Given the description of an element on the screen output the (x, y) to click on. 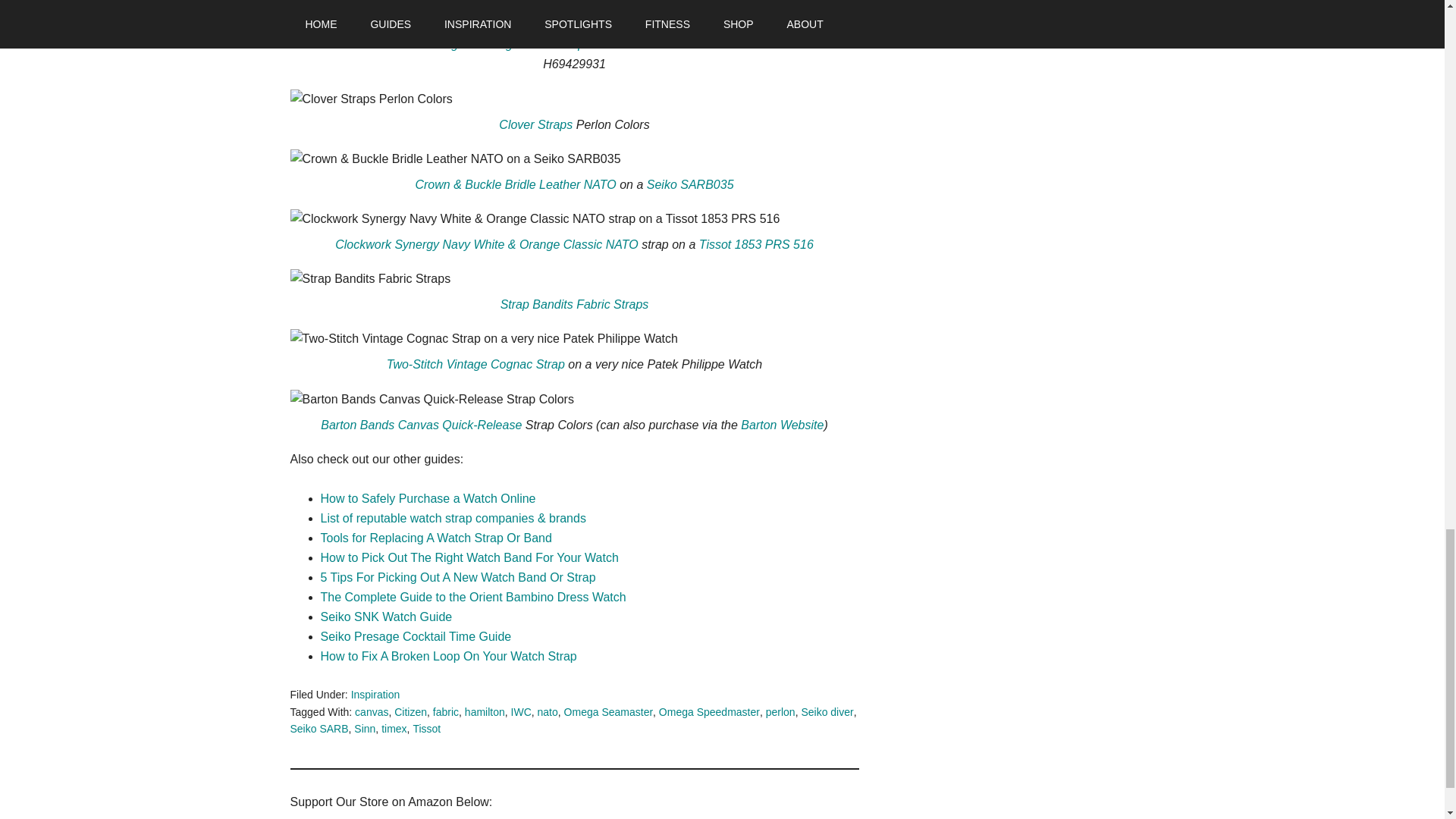
Seiko SARB035 (689, 184)
Clover Straps (535, 124)
Two-Stitch Vintage Cognac Strap (475, 364)
Barton Website (782, 424)
Tissot 1853 PRS 516 (755, 244)
Strap Bandits Fabric Straps (574, 304)
Barton Bands Canvas Quick-Release (420, 424)
Watch Gecko Brown Kington Vintage Dress strap (452, 43)
Hamilton Khaki Field Mechanical (702, 43)
